Given the description of an element on the screen output the (x, y) to click on. 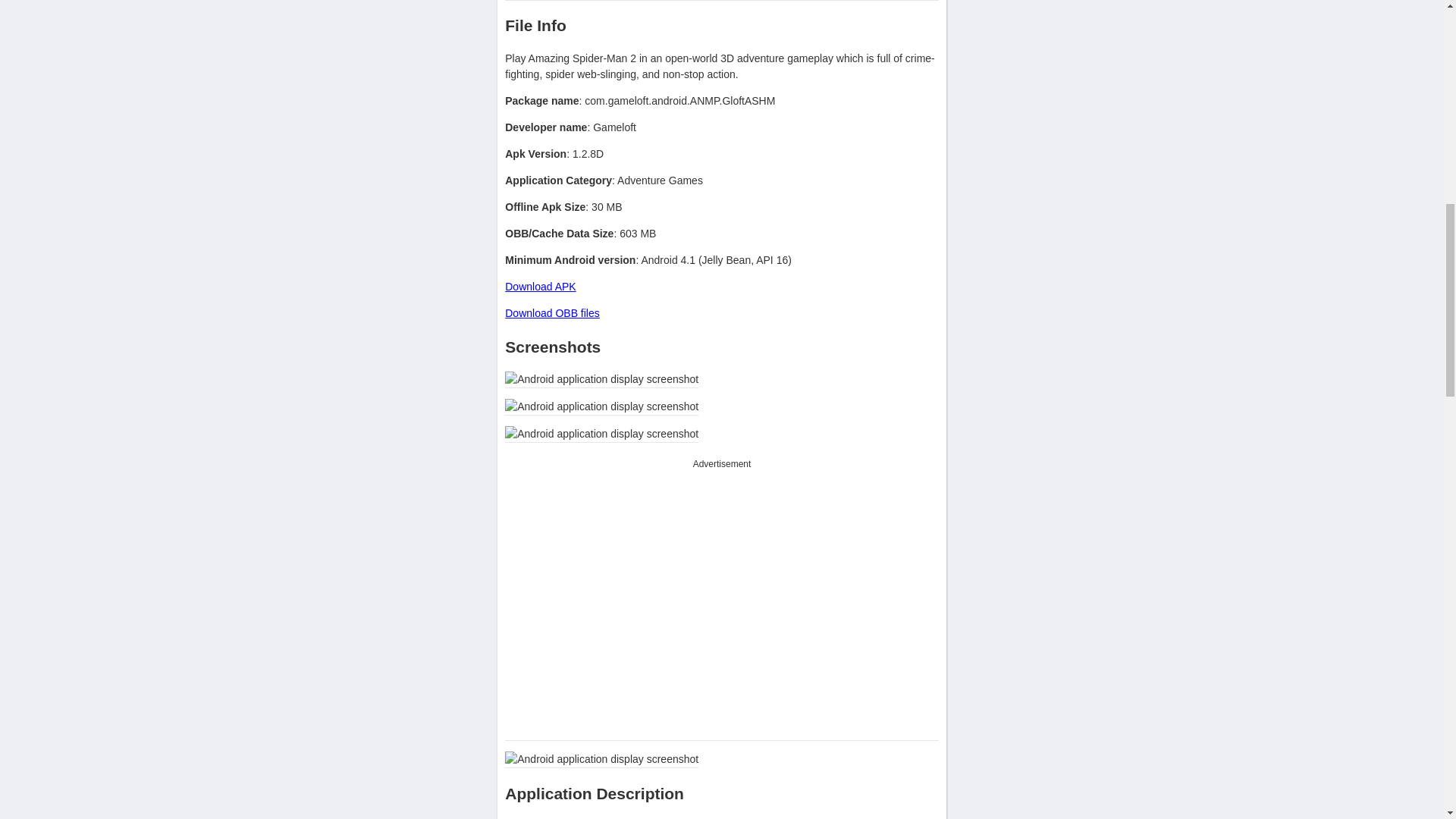
Download OBB files (552, 313)
Download APK (540, 286)
